Given the description of an element on the screen output the (x, y) to click on. 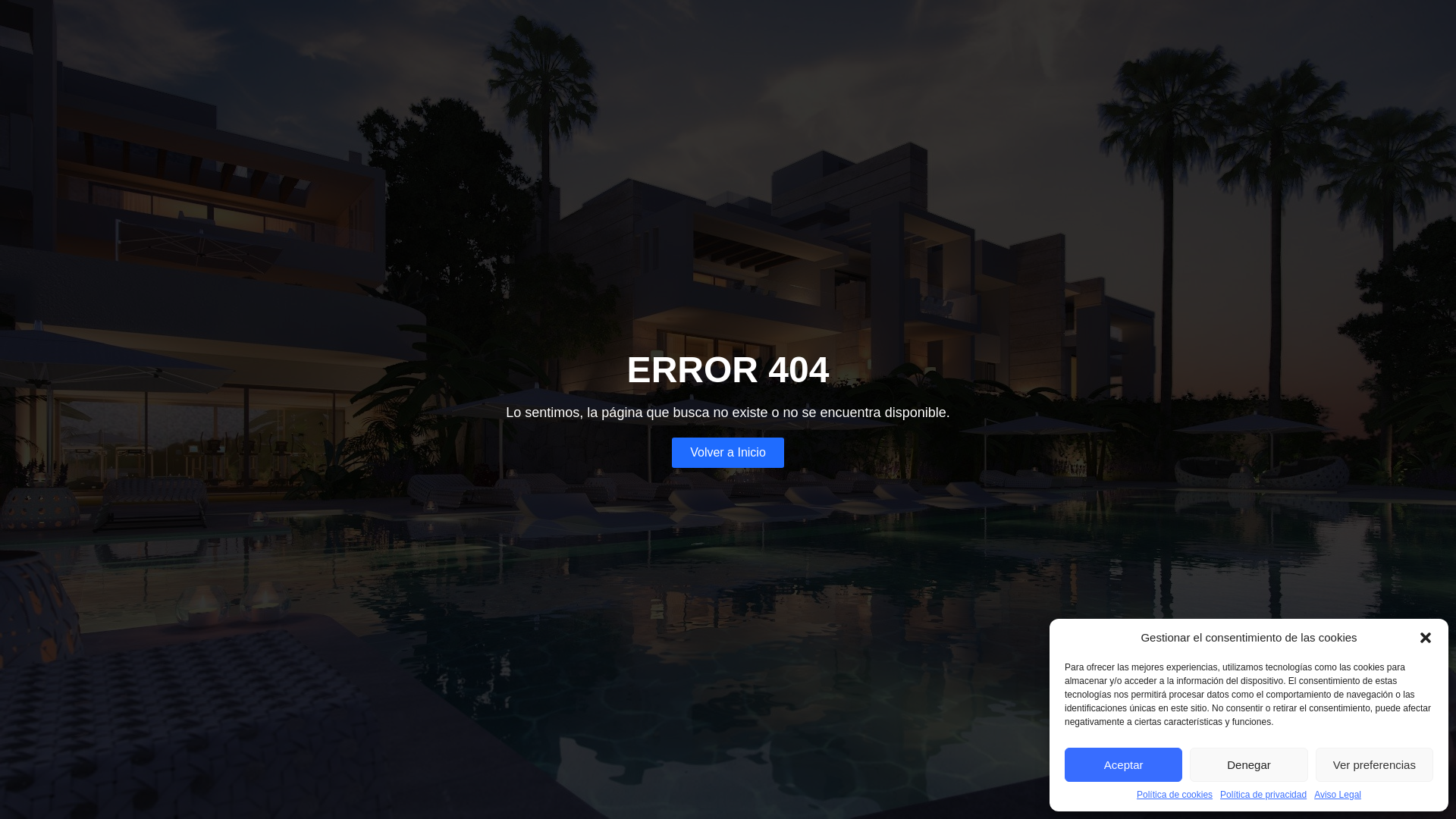
Aviso Legal (1337, 794)
Denegar (1248, 764)
Ver preferencias (1374, 764)
Volver a Inicio (727, 451)
Aceptar (1123, 764)
